Given the description of an element on the screen output the (x, y) to click on. 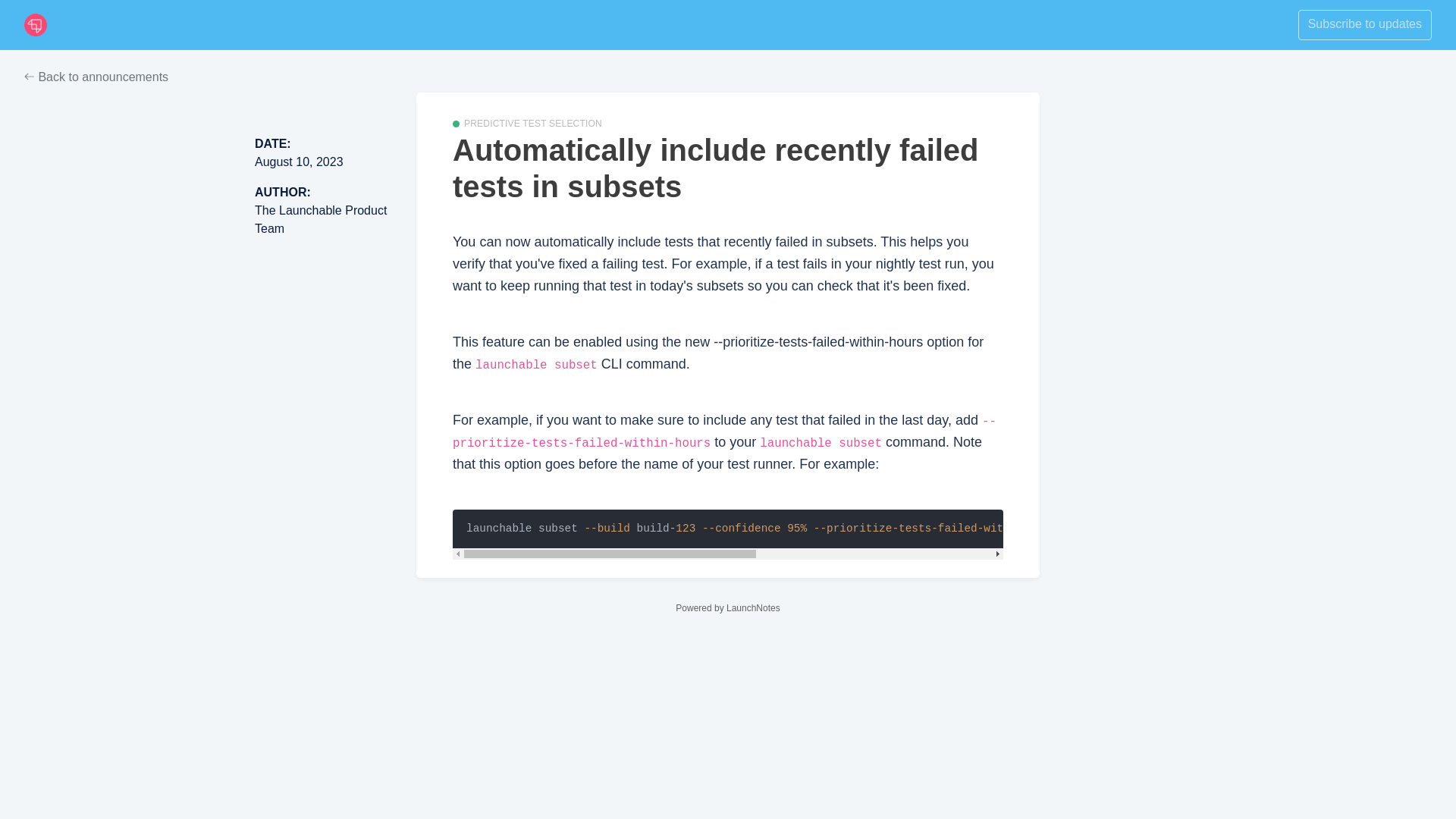
August 10, 2023 at 4:34am  (298, 161)
arrow-left (29, 76)
arrow-left Back to announcements (96, 76)
Subscribe to updates (1364, 24)
